Given the description of an element on the screen output the (x, y) to click on. 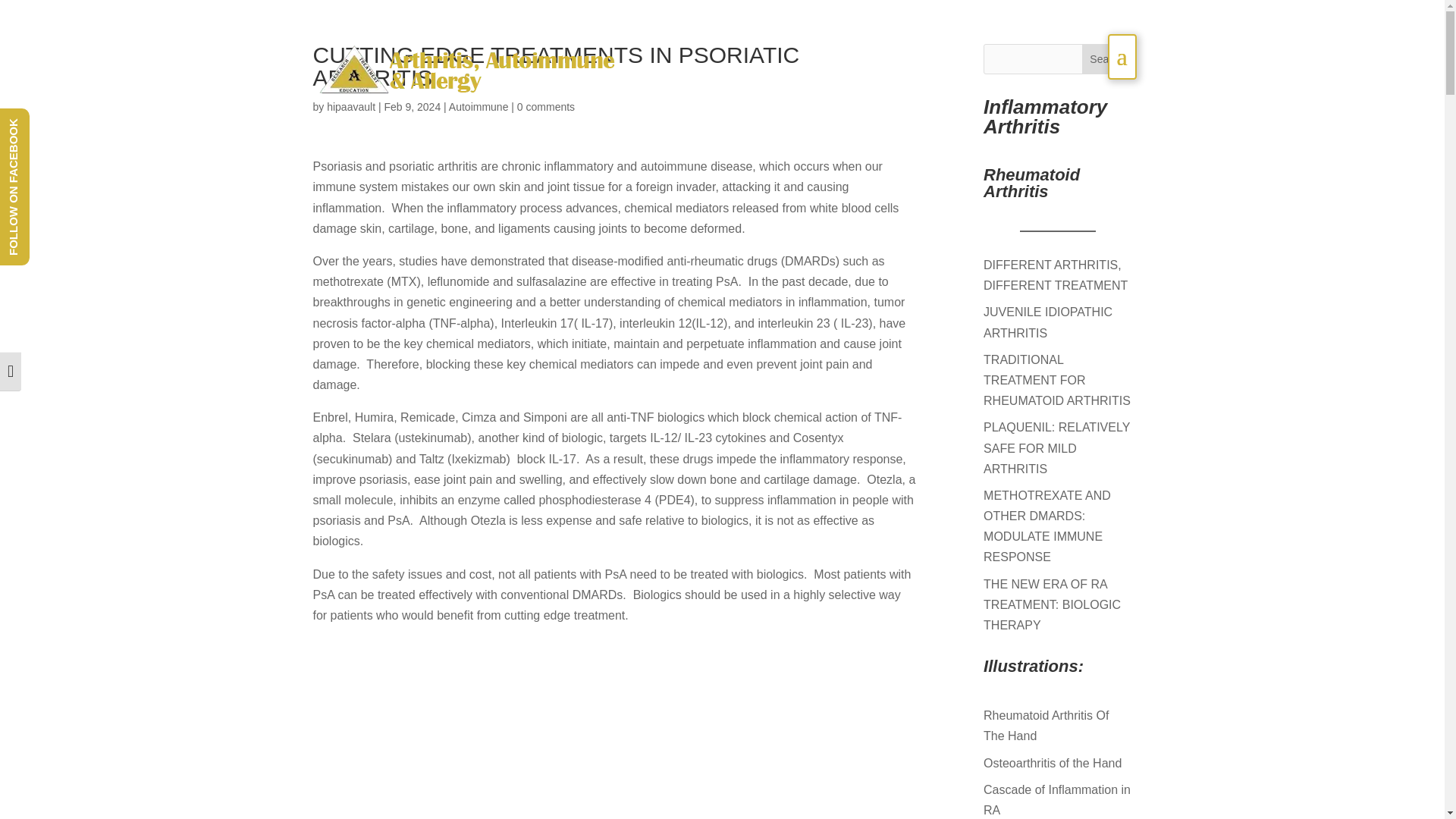
JUVENILE IDIOPATHIC ARTHRITIS (1048, 322)
Autoimmune (478, 106)
DIFFERENT ARTHRITIS, DIFFERENT TREATMENT (1055, 274)
PLAQUENIL: RELATIVELY SAFE FOR MILD ARTHRITIS (1056, 447)
Rheumatoid Arthritis Of The Hand (1046, 725)
METHOTREXATE AND OTHER DMARDS: MODULATE IMMUNE RESPONSE (1047, 526)
0 comments (545, 106)
hipaavault (350, 106)
TRADITIONAL TREATMENT FOR RHEUMATOID ARTHRITIS (1057, 379)
Osteoarthritis of the Hand (1052, 762)
THE NEW ERA OF RA TREATMENT: BIOLOGIC THERAPY (1052, 604)
Cascade of Inflammation in RA (1057, 799)
Search (1106, 59)
